Given the description of an element on the screen output the (x, y) to click on. 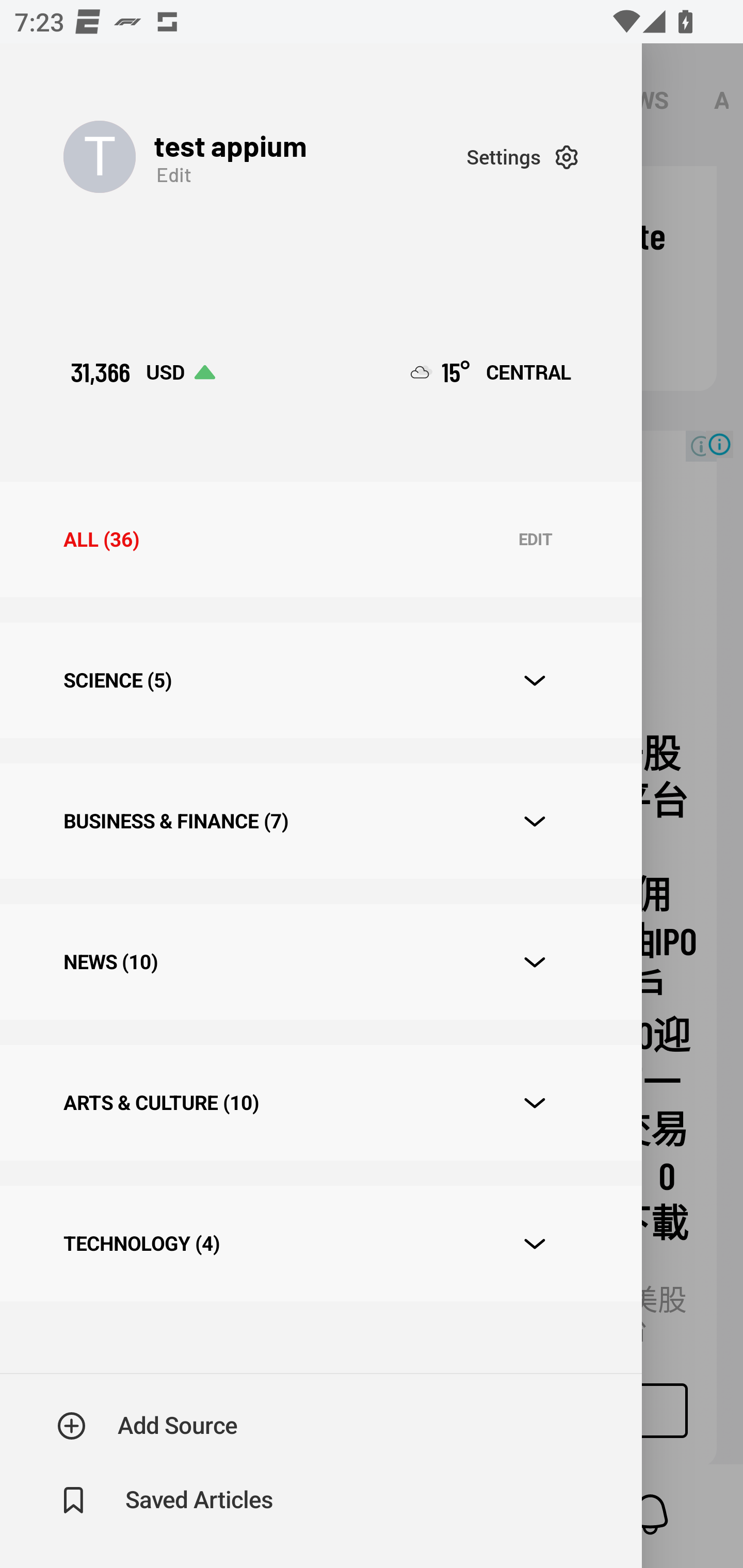
T test appium Edit (264, 156)
Settings Select News Style (522, 156)
31,366 USD Current State of the Currency (142, 372)
Current State of the Weather 15° CENTRAL (490, 372)
ALL  (36) EDIT (320, 539)
EDIT (534, 540)
SCIENCE  (5) Expand Button (320, 680)
Expand Button (534, 681)
BUSINESS & FINANCE  (7) Expand Button (320, 821)
Expand Button (534, 821)
NEWS  (10) Expand Button (320, 961)
Expand Button (534, 961)
ARTS & CULTURE  (10) Expand Button (320, 1102)
Expand Button (534, 1102)
TECHNOLOGY  (4) Expand Button (320, 1243)
Expand Button (534, 1244)
Open Content Store Add Source (147, 1425)
Open Saved News  Saved Articles (166, 1500)
